Given the description of an element on the screen output the (x, y) to click on. 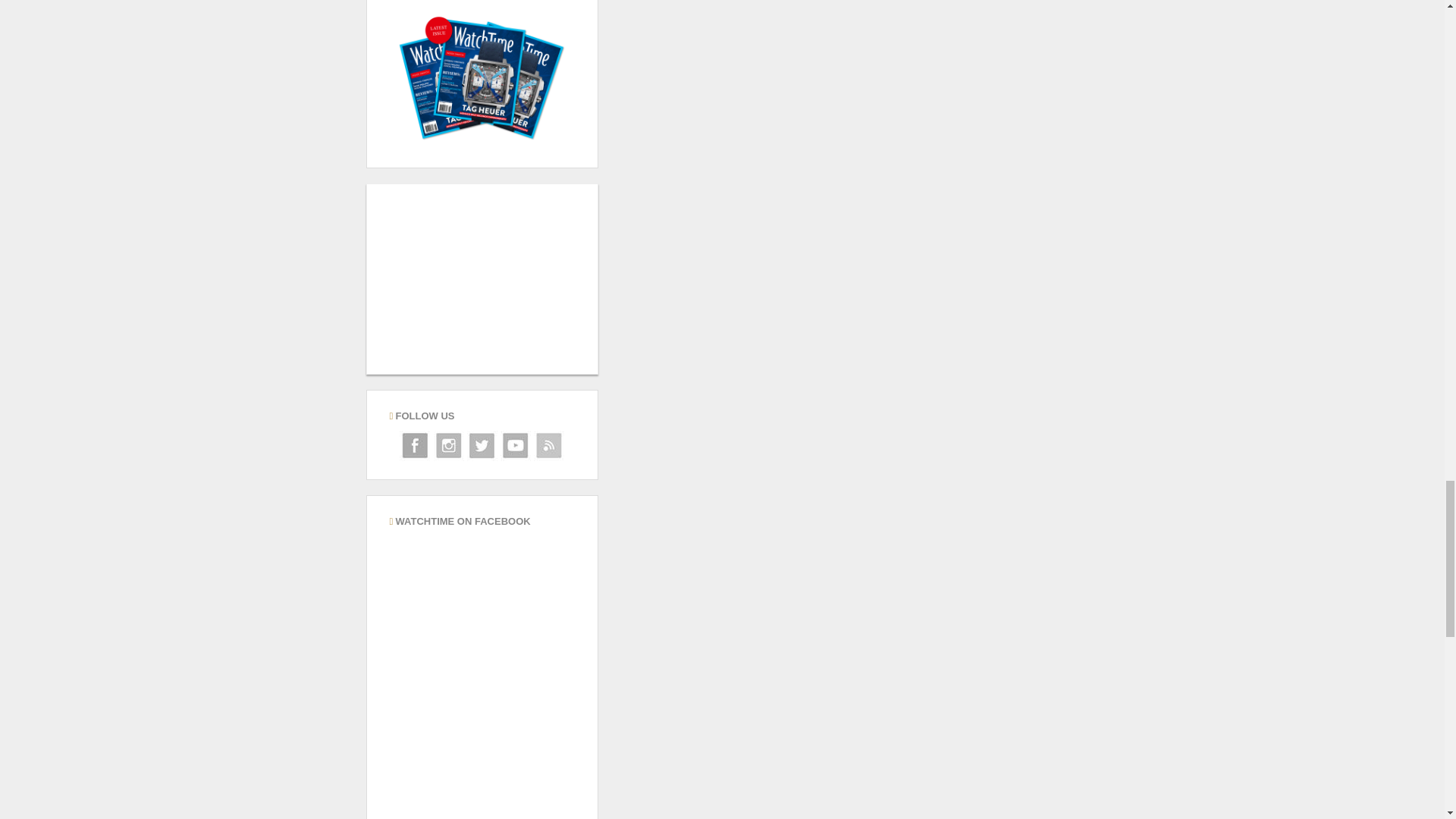
Current Issue (482, 76)
3rd party ad content (481, 278)
